Given the description of an element on the screen output the (x, y) to click on. 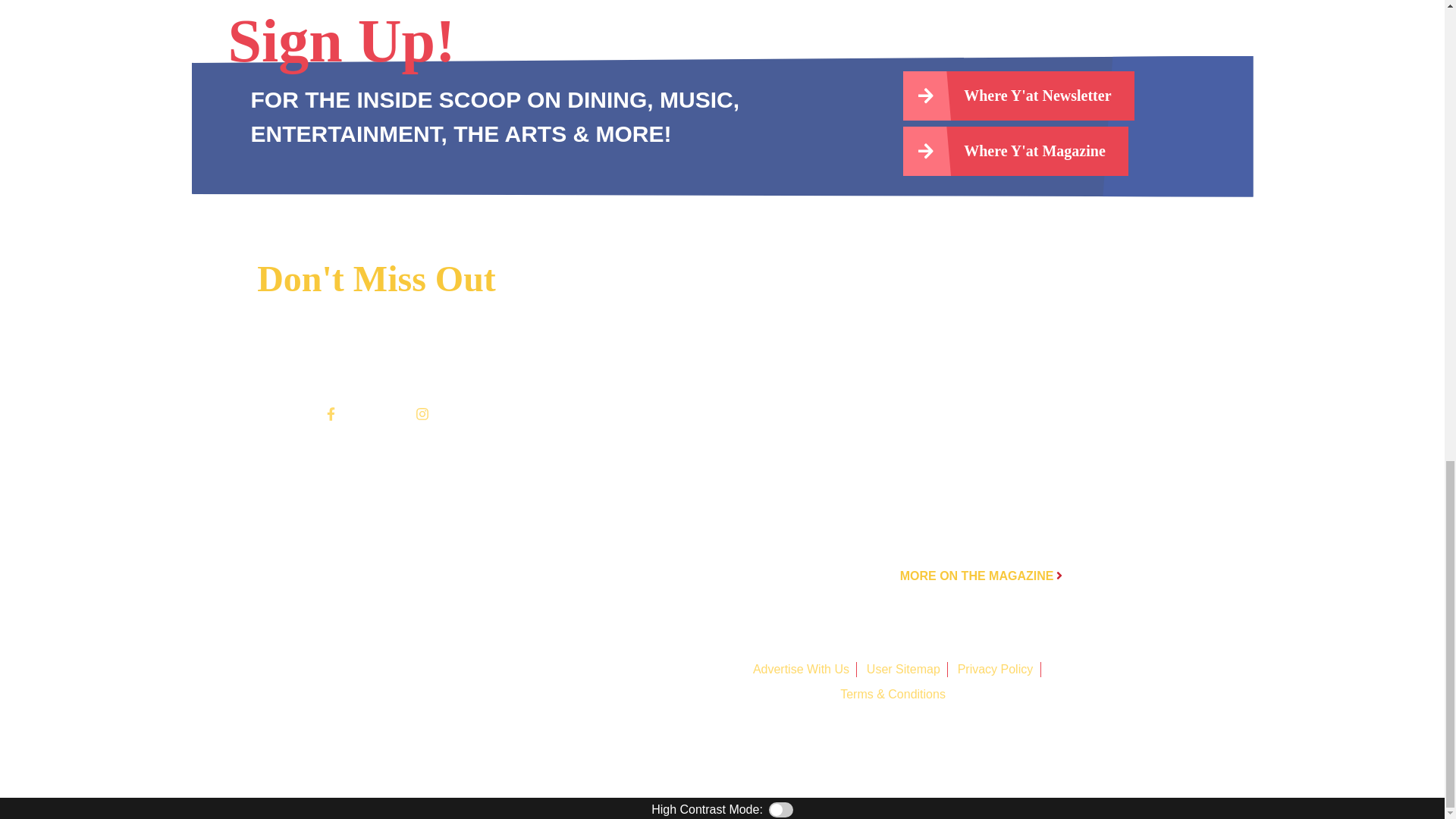
YouTube (390, 413)
Instagram (421, 413)
Facebook (330, 413)
